Given the description of an element on the screen output the (x, y) to click on. 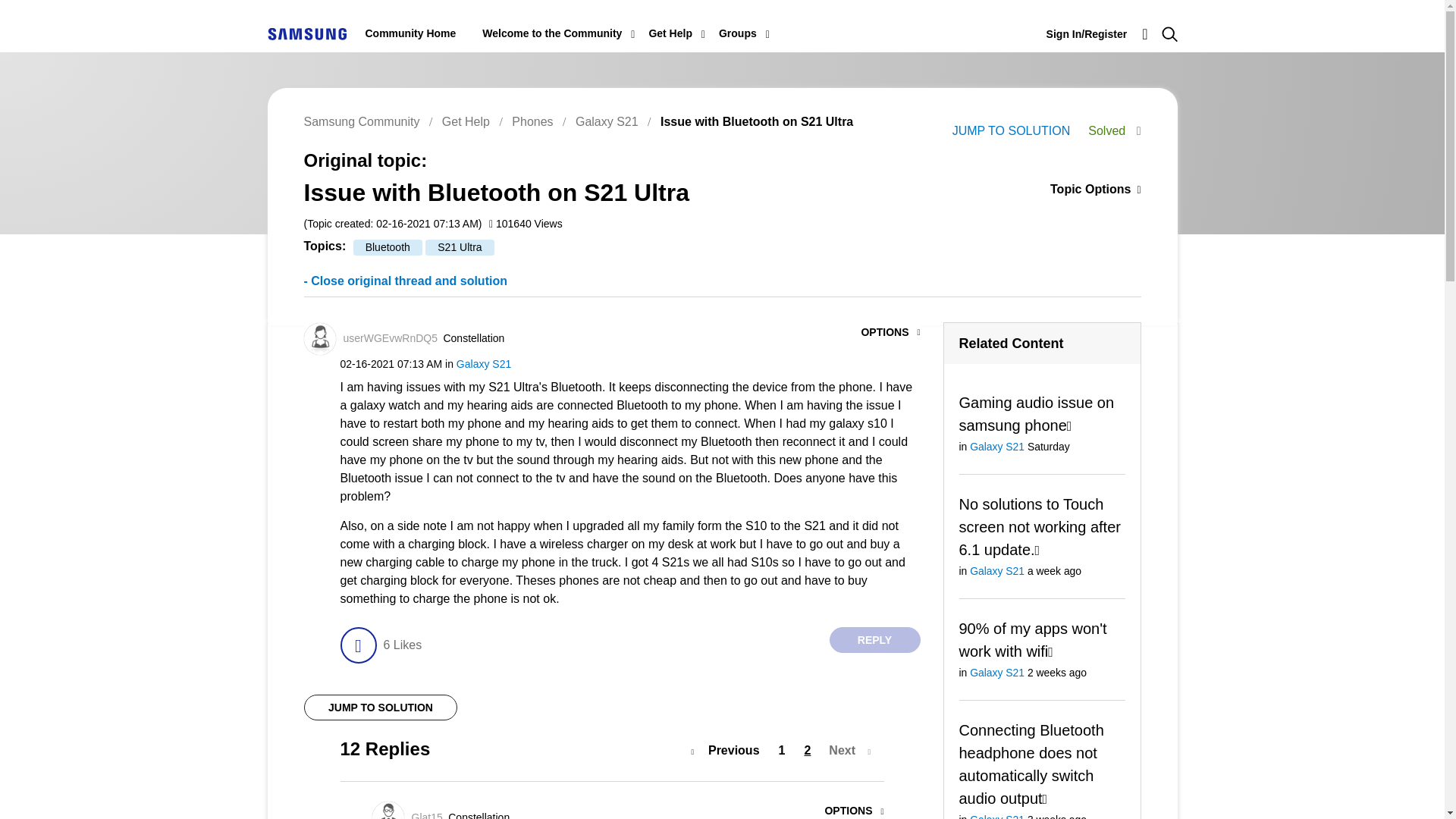
Samsung (306, 33)
Groups (738, 33)
Community Home (411, 33)
Get Help (670, 33)
Samsung (306, 33)
Welcome to the Community (551, 33)
Community Home (411, 33)
Get Help (670, 33)
Welcome to the Community (551, 33)
Groups (738, 33)
